Given the description of an element on the screen output the (x, y) to click on. 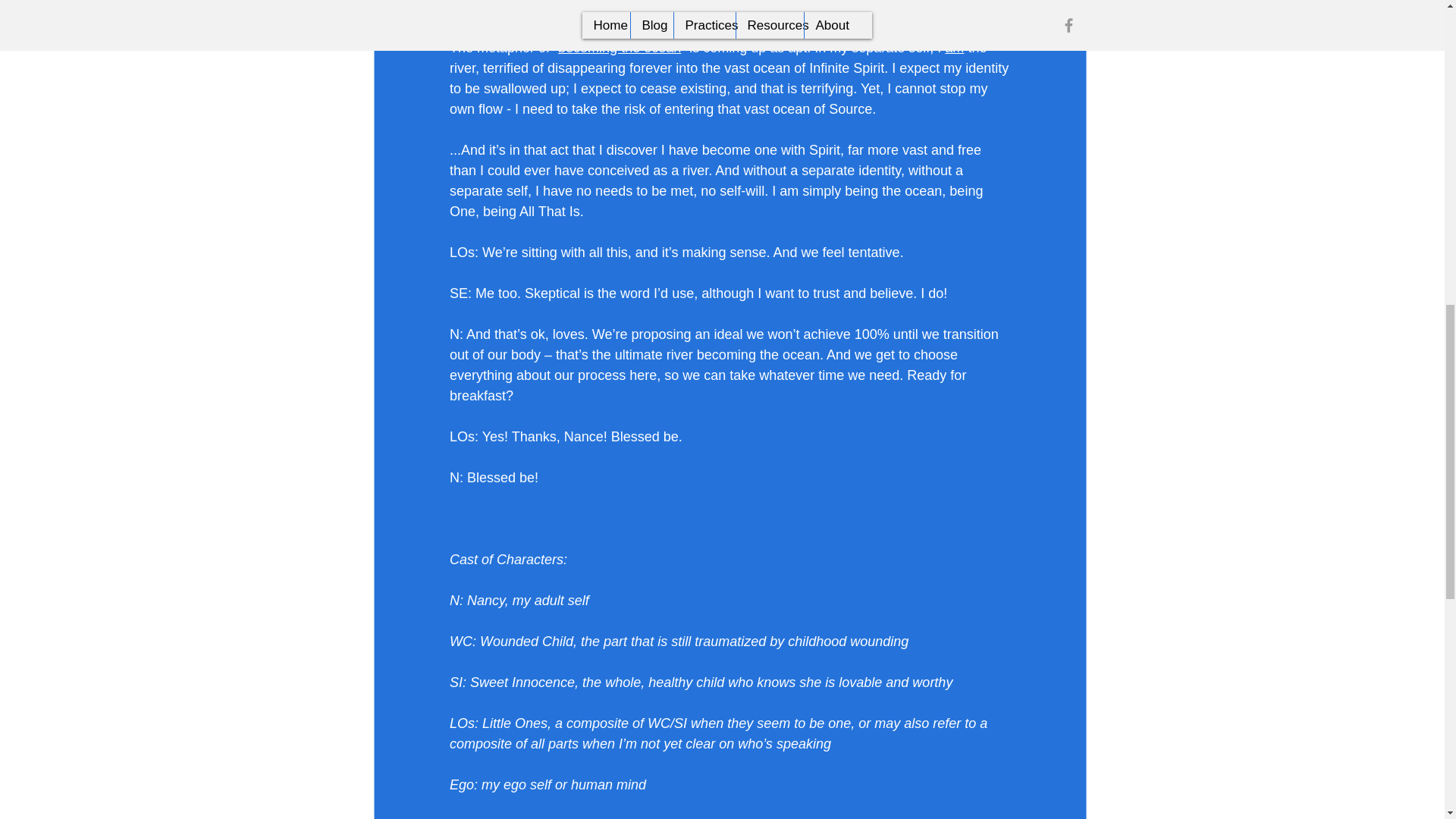
becoming the ocean (619, 47)
